Given the description of an element on the screen output the (x, y) to click on. 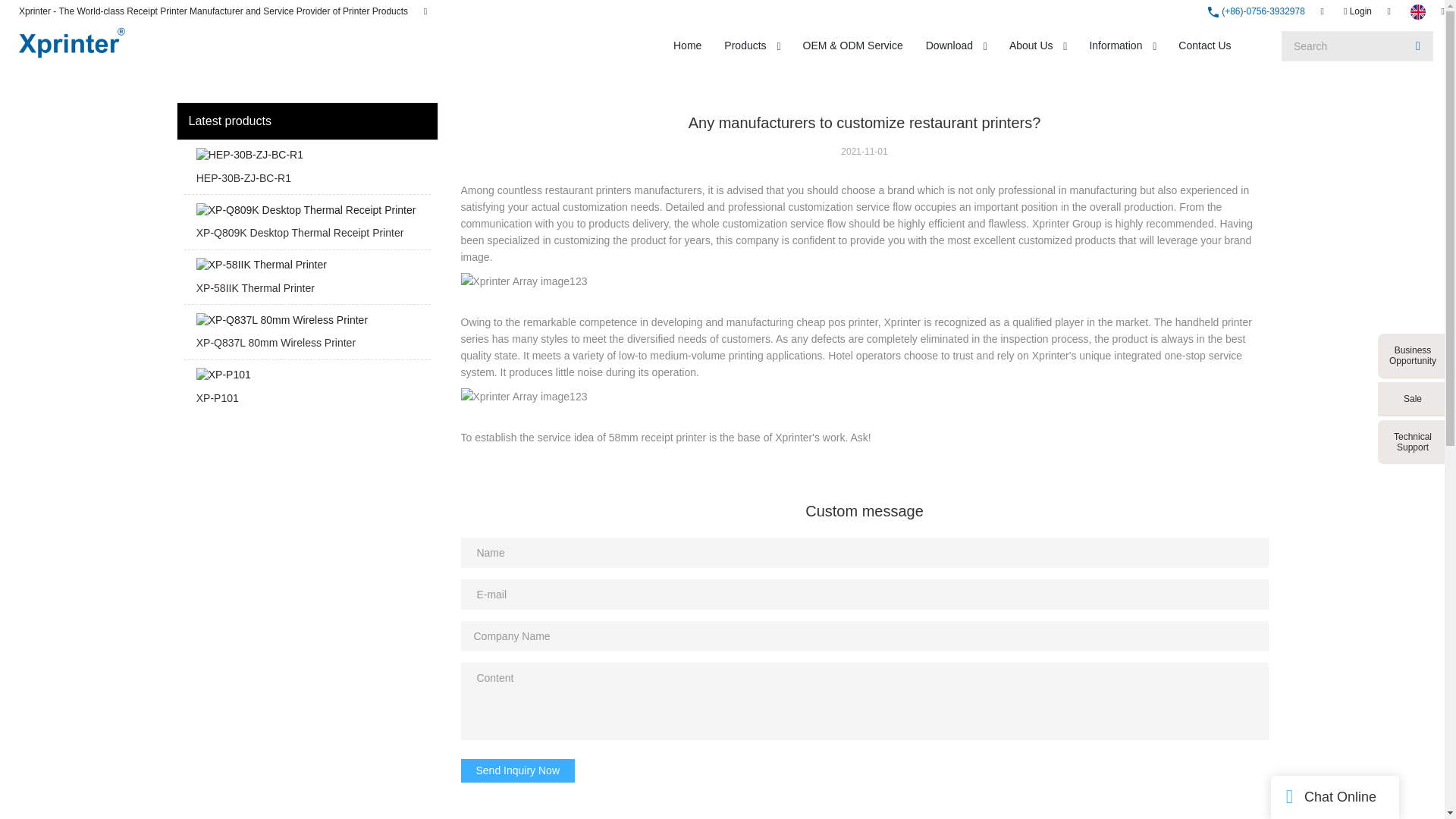
Products (745, 45)
Login (1357, 10)
Download (949, 45)
Home (687, 45)
